Given the description of an element on the screen output the (x, y) to click on. 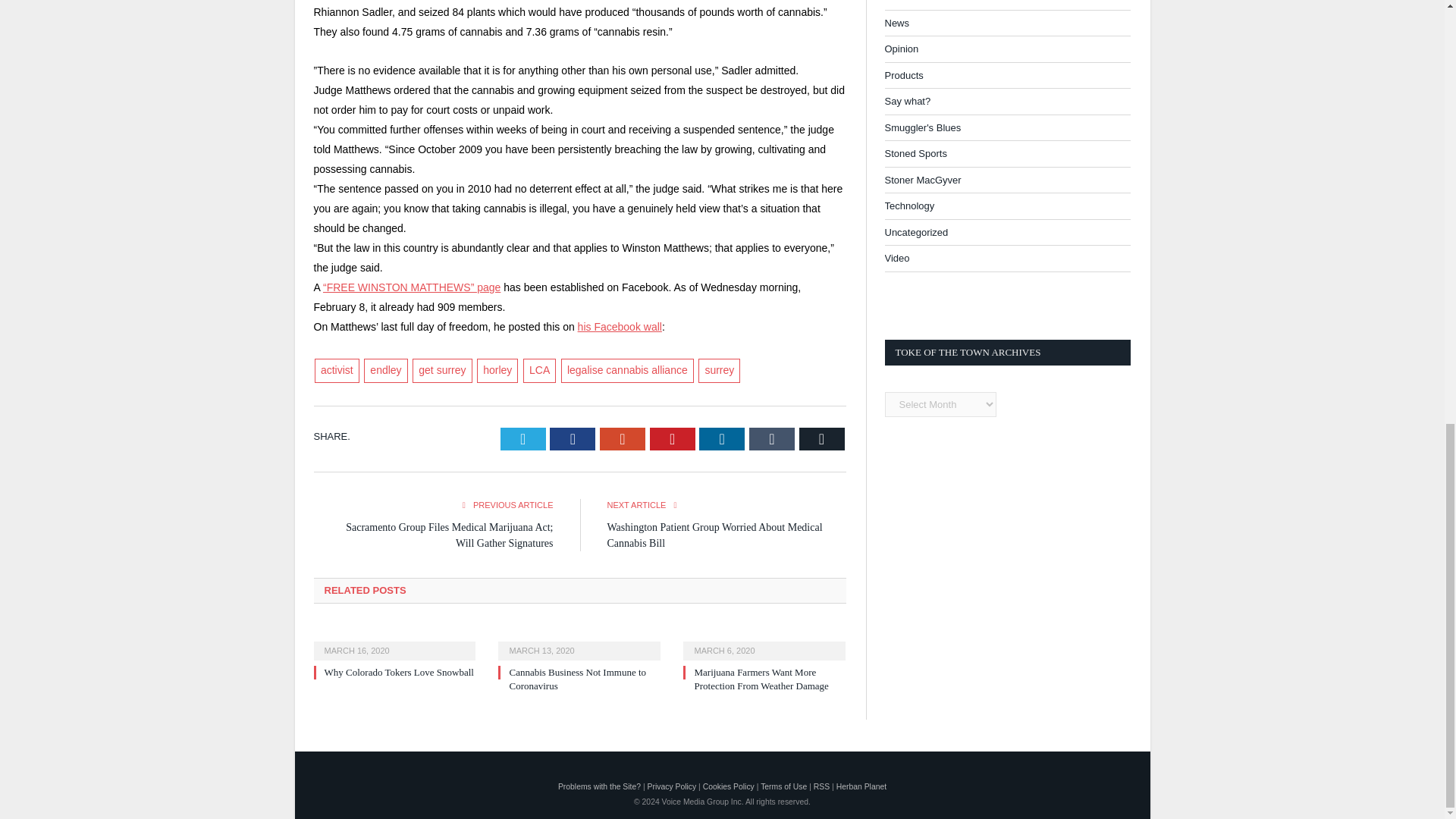
Cannabis Business Not Immune to Coronavirus (579, 640)
LCA (539, 370)
Twitter (523, 438)
Why Colorado Tokers Love Snowball (399, 672)
legalise cannabis alliance (627, 370)
Marijuana Farmers Want More Protection From Weather Damage (763, 640)
surrey (718, 370)
Tweet It (523, 438)
Marijuana Farmers Want More Protection From Weather Damage (761, 678)
Share on Facebook (572, 438)
horley (497, 370)
Share via Email (821, 438)
get surrey (441, 370)
Share on Pinterest (672, 438)
endley (385, 370)
